Given the description of an element on the screen output the (x, y) to click on. 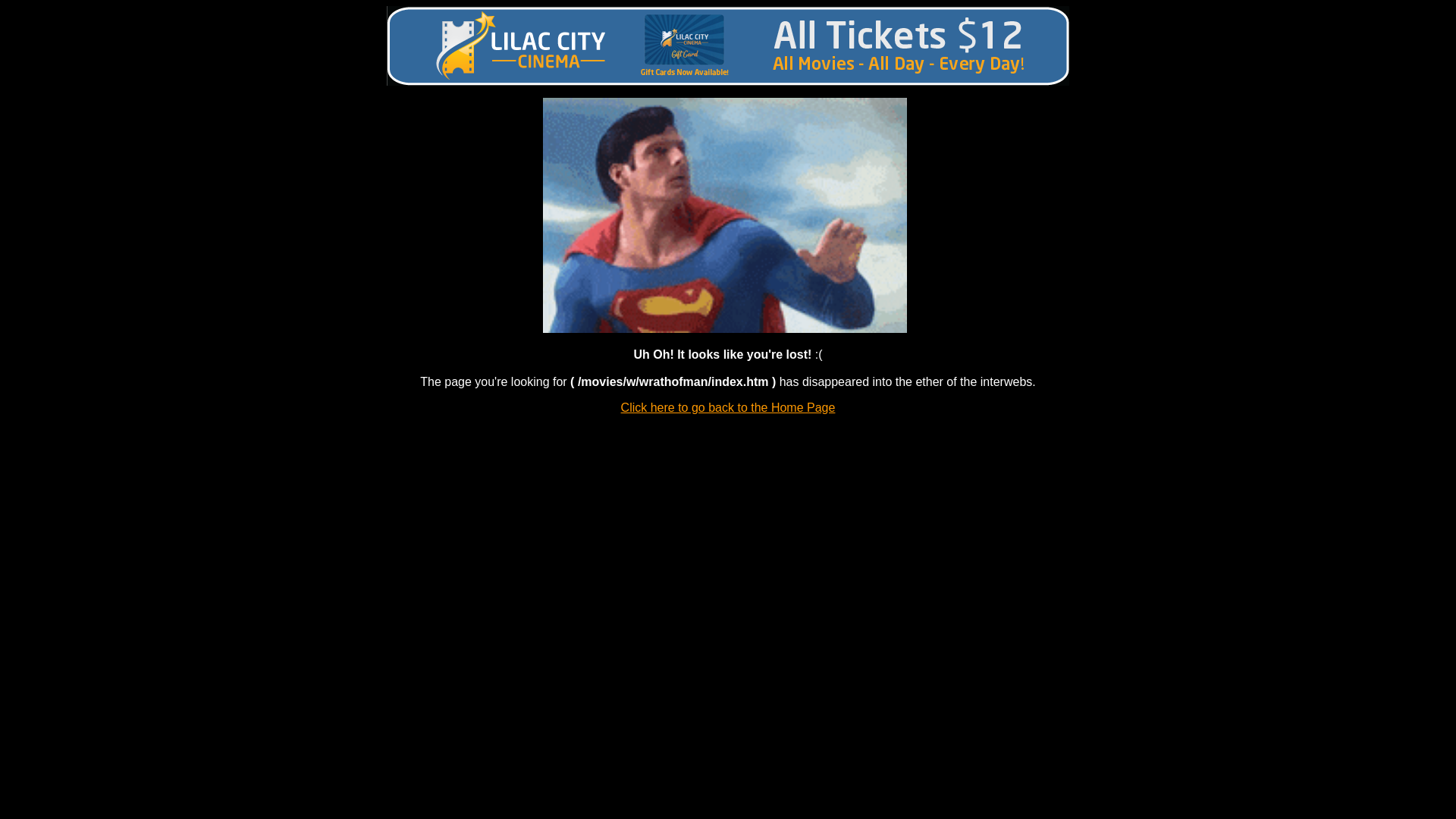
Click here to go back to the Home Page Element type: text (728, 407)
